Given the description of an element on the screen output the (x, y) to click on. 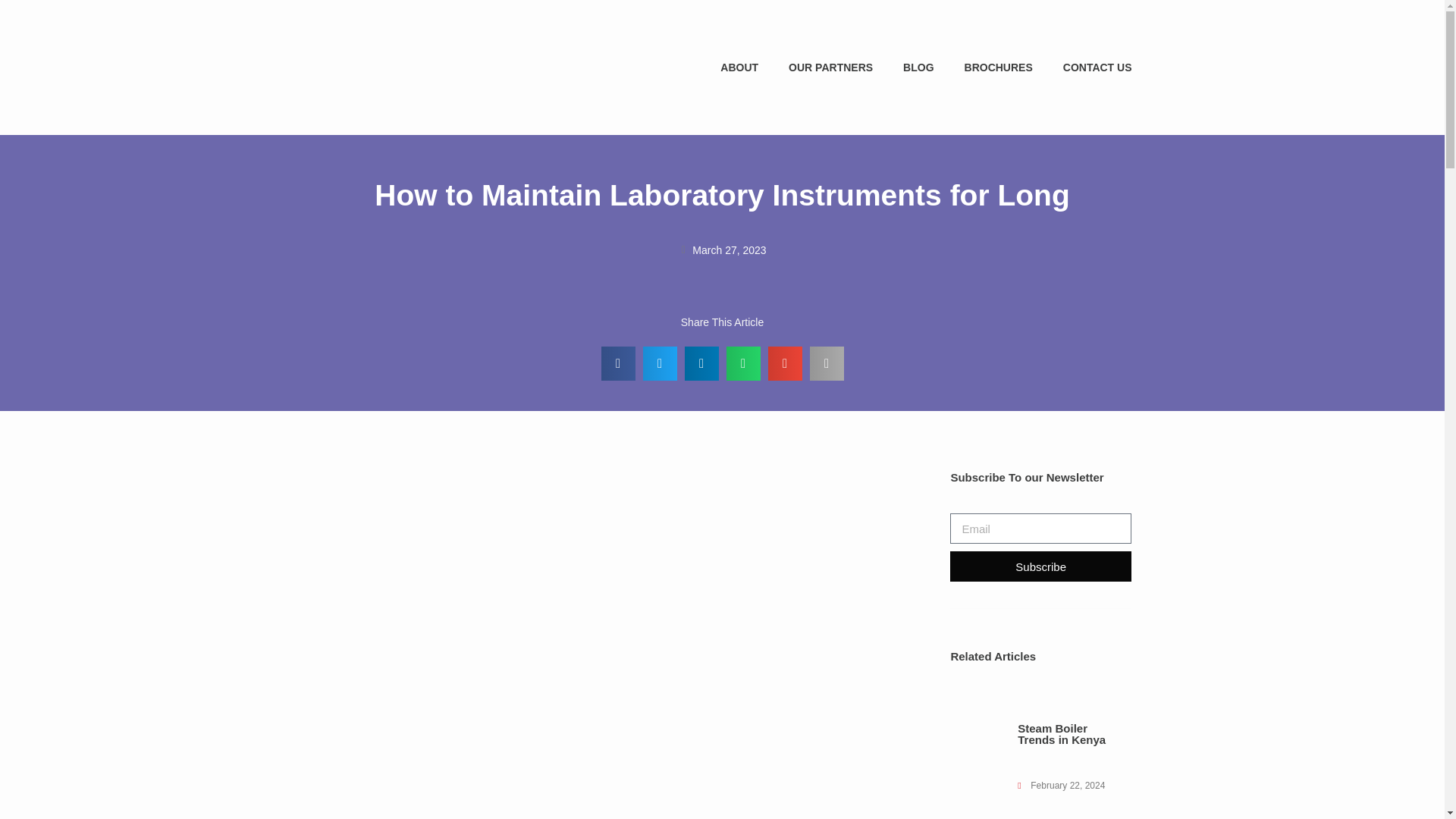
BLOG (918, 67)
BROCHURES (998, 67)
CONTACT US (1097, 67)
February 22, 2024 (1061, 785)
ABOUT (738, 67)
Subscribe (1040, 566)
OUR PARTNERS (830, 67)
Steam Boiler Trends in Kenya (1061, 733)
March 27, 2023 (721, 250)
